Given the description of an element on the screen output the (x, y) to click on. 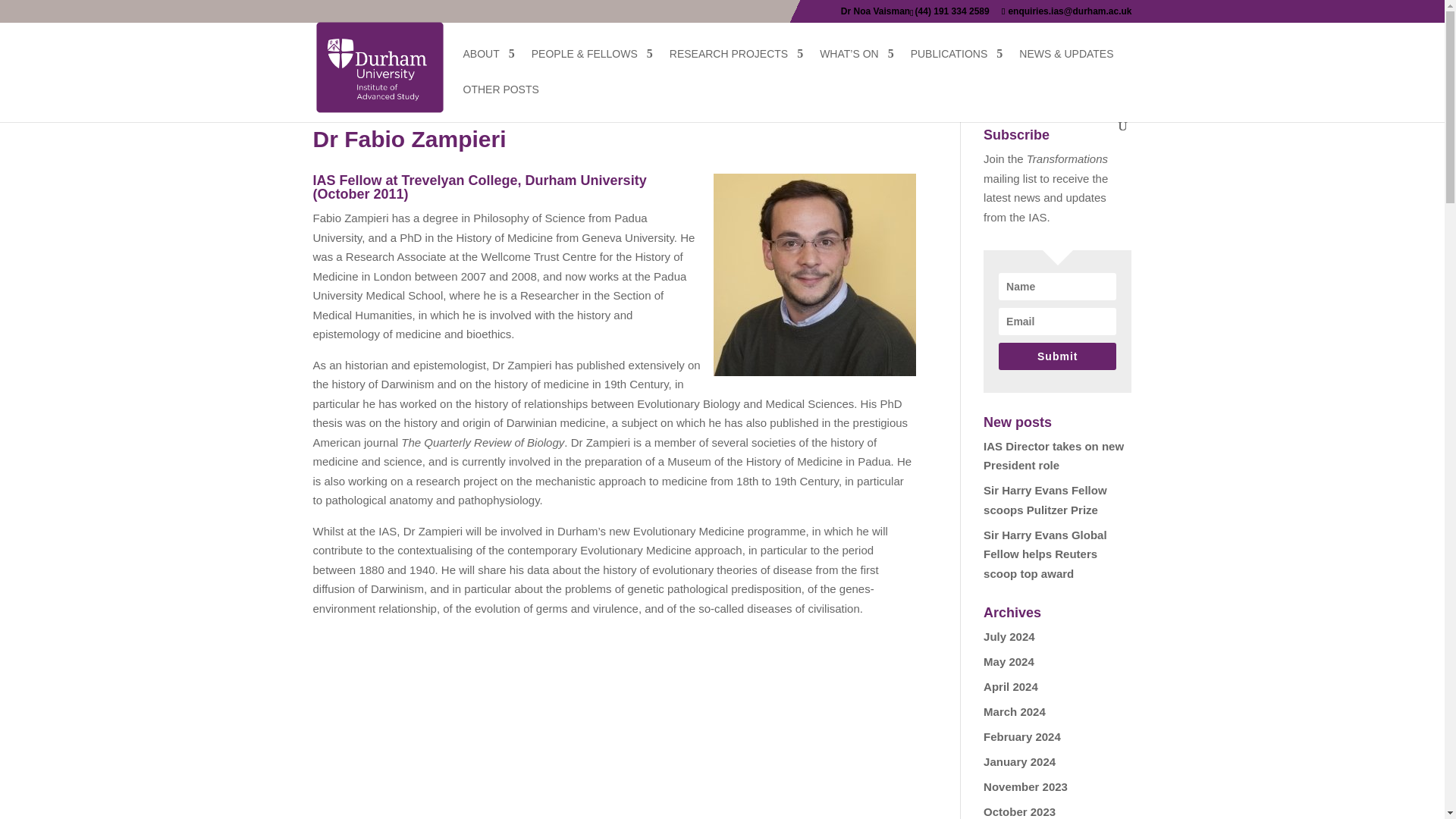
Dr Noa Vaisman (875, 14)
PUBLICATIONS (957, 66)
ABOUT (488, 66)
RESEARCH PROJECTS (736, 66)
